Given the description of an element on the screen output the (x, y) to click on. 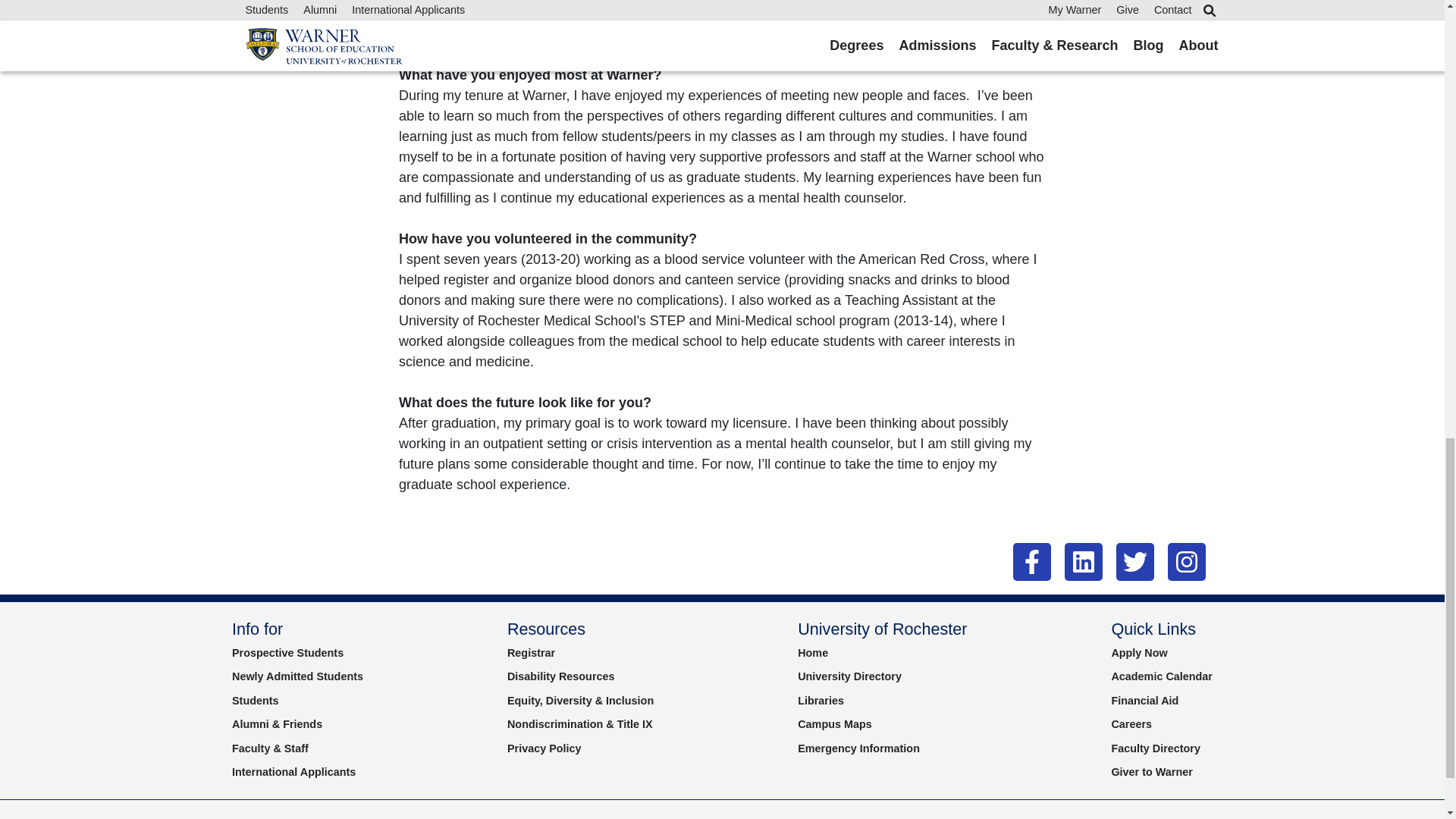
Start the application process. (1138, 653)
Campus Maps (834, 724)
Emergency Information (858, 748)
Next steps, student portal and success (296, 676)
Students (255, 700)
University Directory (849, 676)
Academic Calendar (1161, 676)
Twitter (1135, 561)
Apply Now (1138, 653)
Registrar (530, 653)
Home (812, 653)
Facebook (1032, 561)
Instagram (1186, 561)
Libraries (820, 700)
LinkedIn (1083, 561)
